Given the description of an element on the screen output the (x, y) to click on. 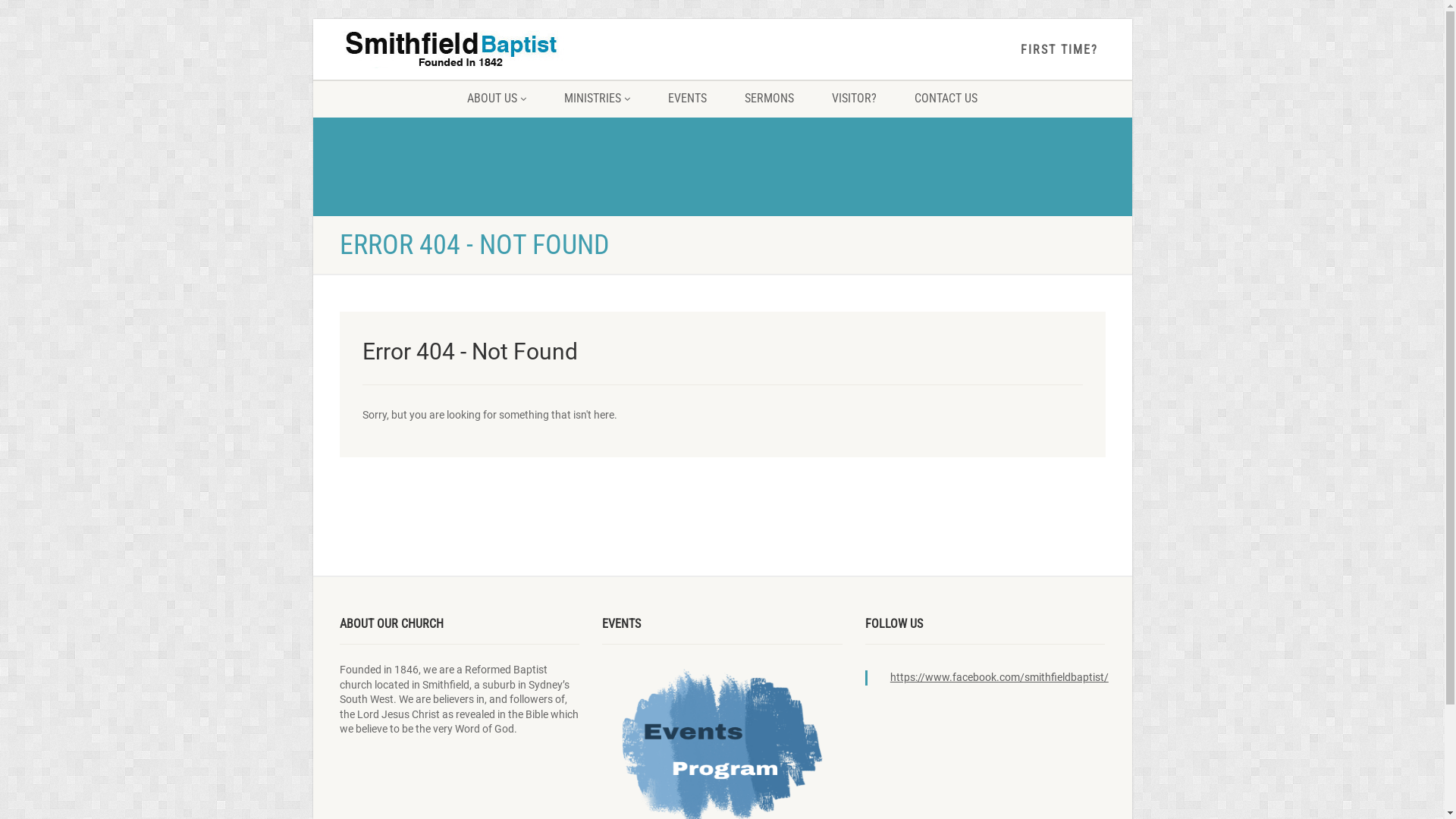
VISITOR? Element type: text (853, 98)
MINISTRIES Element type: text (597, 98)
ABOUT US Element type: text (496, 98)
SERMONS Element type: text (768, 98)
https://www.facebook.com/smithfieldbaptist/ Element type: text (999, 677)
FIRST TIME? Element type: text (1059, 49)
EVENTS Element type: text (687, 98)
Smithfield Baptist Element type: hover (459, 54)
CONTACT US Element type: text (945, 98)
